Given the description of an element on the screen output the (x, y) to click on. 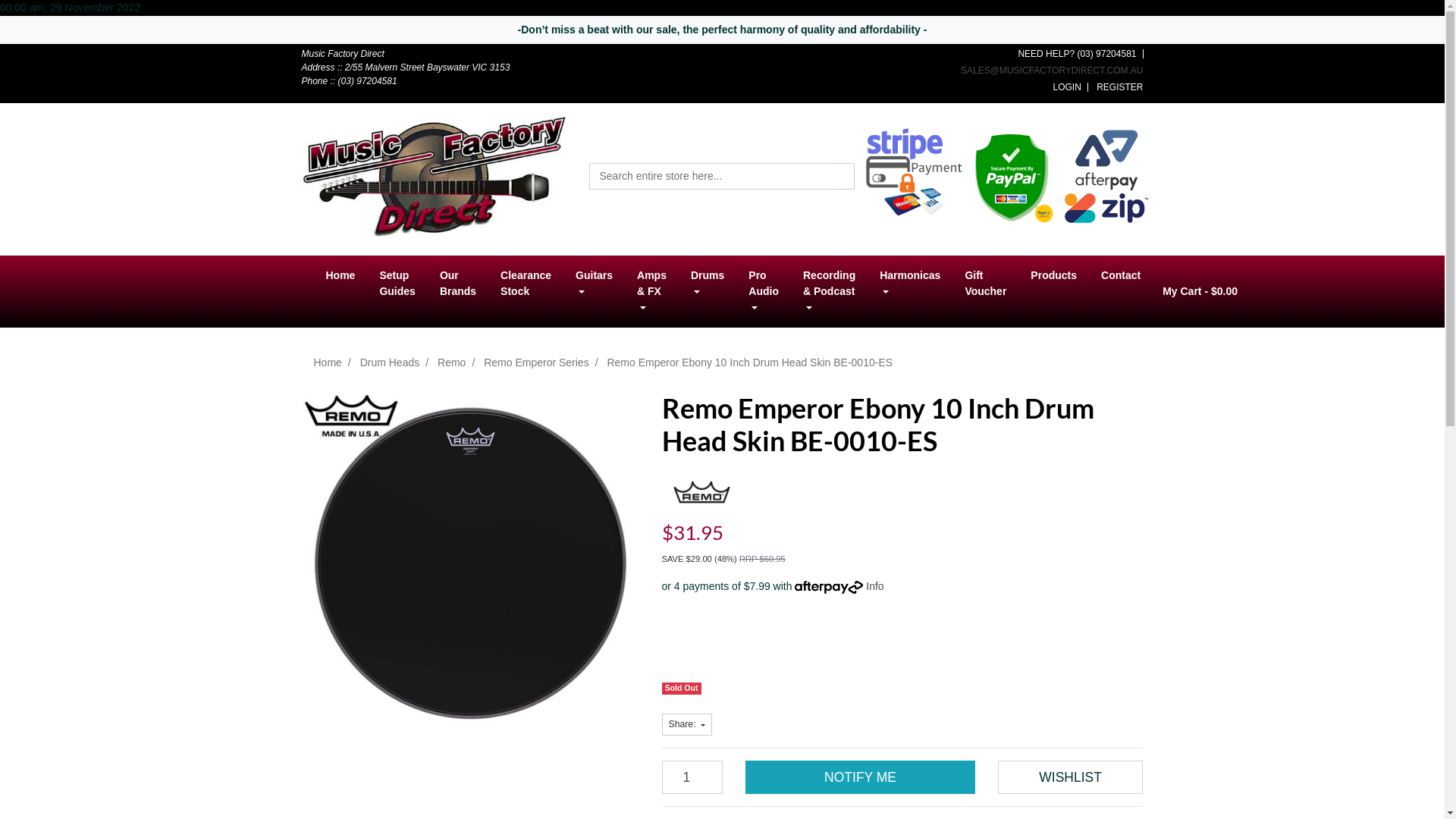
Recording & Podcast Element type: text (828, 291)
Search Element type: text (844, 176)
Drums Element type: text (707, 283)
Skip to main content Element type: text (0, 43)
WISHLIST Element type: text (1070, 776)
REGISTER Element type: text (1119, 86)
Home Element type: text (327, 362)
Drum Heads Element type: text (390, 362)
NOTIFY ME Element type: text (859, 776)
Setup Guides Element type: text (396, 283)
Guitars Element type: text (593, 283)
Amps & FX Element type: text (651, 291)
Contact Element type: text (1120, 275)
(03) 97204581 Element type: text (1105, 53)
Products Element type: text (1053, 275)
Clearance Stock Element type: text (525, 283)
Pro Audio Element type: text (763, 291)
Our Brands Element type: text (457, 283)
Remo Emperor Series Element type: text (536, 362)
My Cart - $0.00 Element type: text (1199, 291)
LOGIN Element type: text (1066, 86)
SALES@MUSICFACTORYDIRECT.COM.AU Element type: text (1051, 70)
Remo Emperor Ebony 10 Inch Drum Head Skin BE-0010-ES Element type: text (749, 362)
Home Element type: text (340, 275)
Music Factory Direct Element type: hover (434, 175)
Gift Voucher Element type: text (985, 283)
Remo Element type: text (451, 362)
Share: Element type: text (686, 723)
Product main image Element type: hover (470, 560)
Info Element type: text (874, 586)
Harmonicas Element type: text (909, 283)
